Given the description of an element on the screen output the (x, y) to click on. 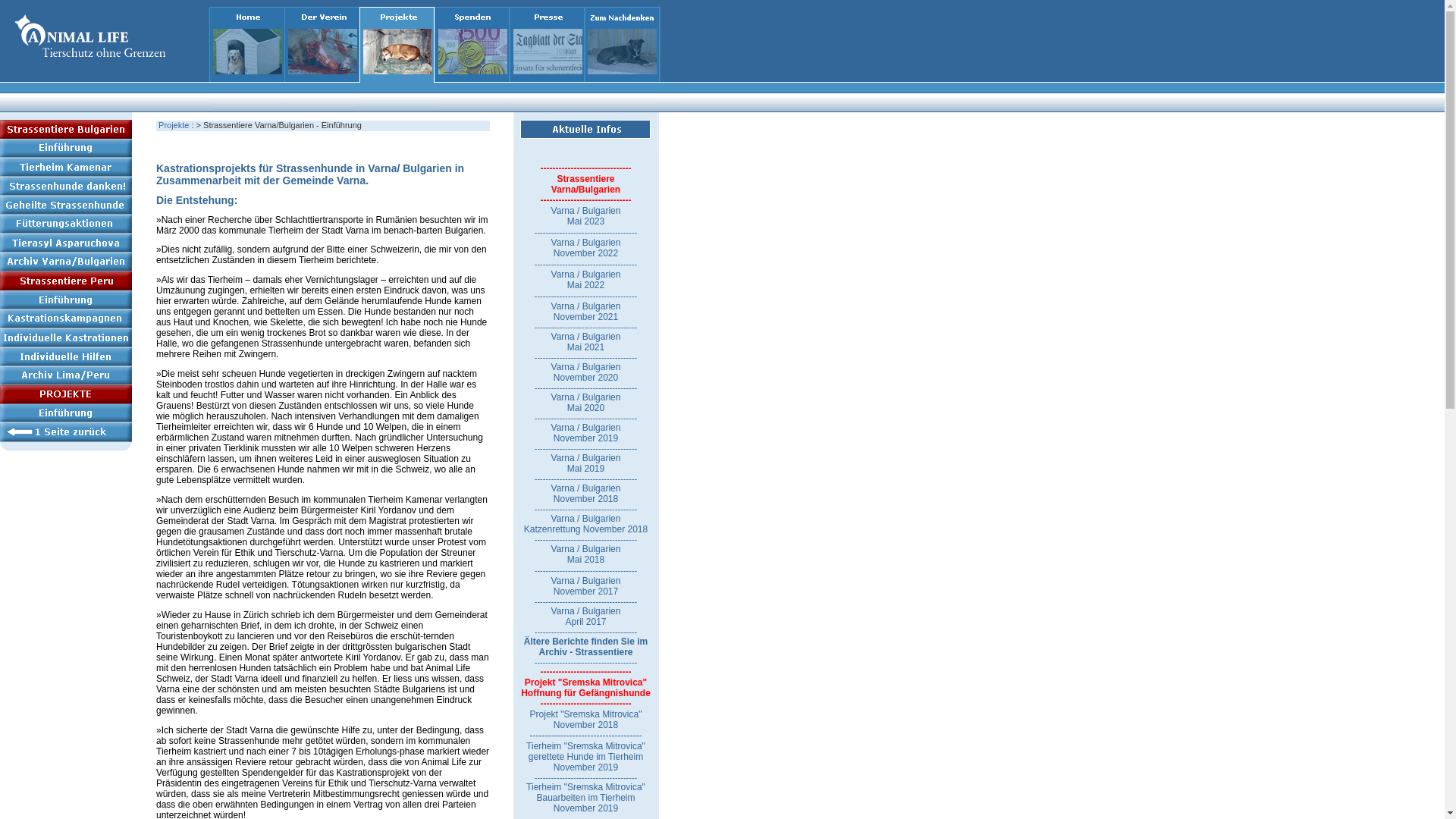
Varna / Bulgarien
Mai 2022 Element type: text (586, 279)
Tierheim "Sremska Mitrovica"
Bauarbeiten im Tierheim Element type: text (585, 792)
Varna / Bulgarien
November 2021 Element type: text (586, 311)
Varna / Bulgarien
November 2017 Element type: text (586, 585)
Varna / Bulgarien
Mai 2019 Element type: text (586, 462)
Varna / Bulgarien
Mai 2020 Element type: text (586, 402)
Varna / Bulgarien
Mai 2021 Element type: text (586, 340)
Varna / Bulgarien
November 2018 Element type: text (586, 493)
November 2019 Element type: text (585, 806)
November 2019 Element type: text (585, 766)
Tierheim "Sremska Mitrovica"
gerettete Hunde im Tierheim Element type: text (585, 751)
Varna / Bulgarien
Katzenrettung November 2018 Element type: text (585, 523)
Varna / Bulgarien
November 2022 Element type: text (594, 253)
Varna / Bulgarien
April 2017 Element type: text (586, 616)
Varna / Bulgarien
Mai 2018 Element type: text (586, 553)
 Projekte Element type: text (173, 124)
Projekt "Sremska Mitrovica"
November 2018 Element type: text (586, 719)
Varna / Bulgarien
November 2020 Element type: text (586, 371)
Varna / Bulgarien
Mai 2023 Element type: text (586, 215)
Varna / Bulgarien
November 2019 Element type: text (586, 432)
